Given the description of an element on the screen output the (x, y) to click on. 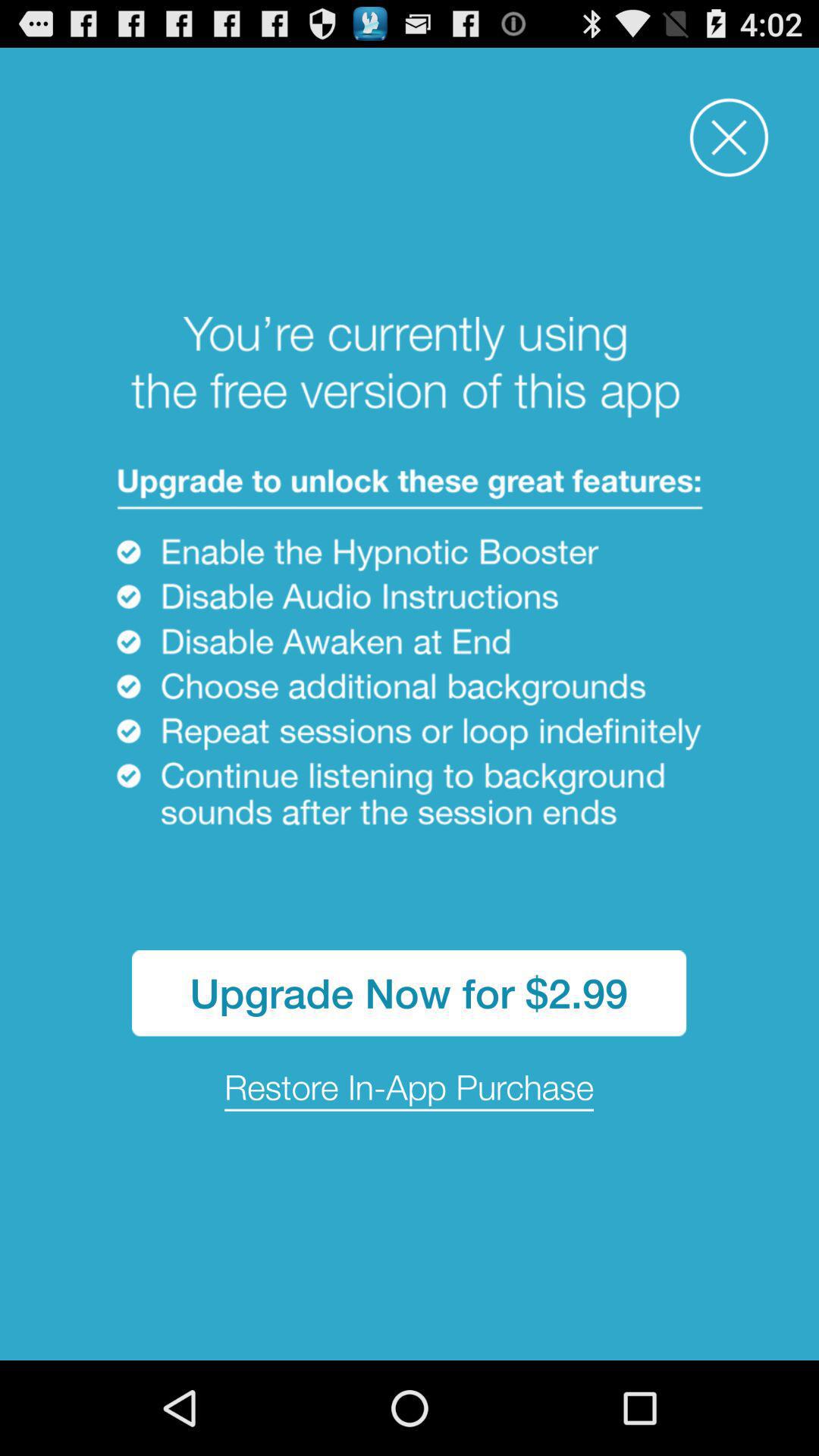
close window (728, 137)
